Given the description of an element on the screen output the (x, y) to click on. 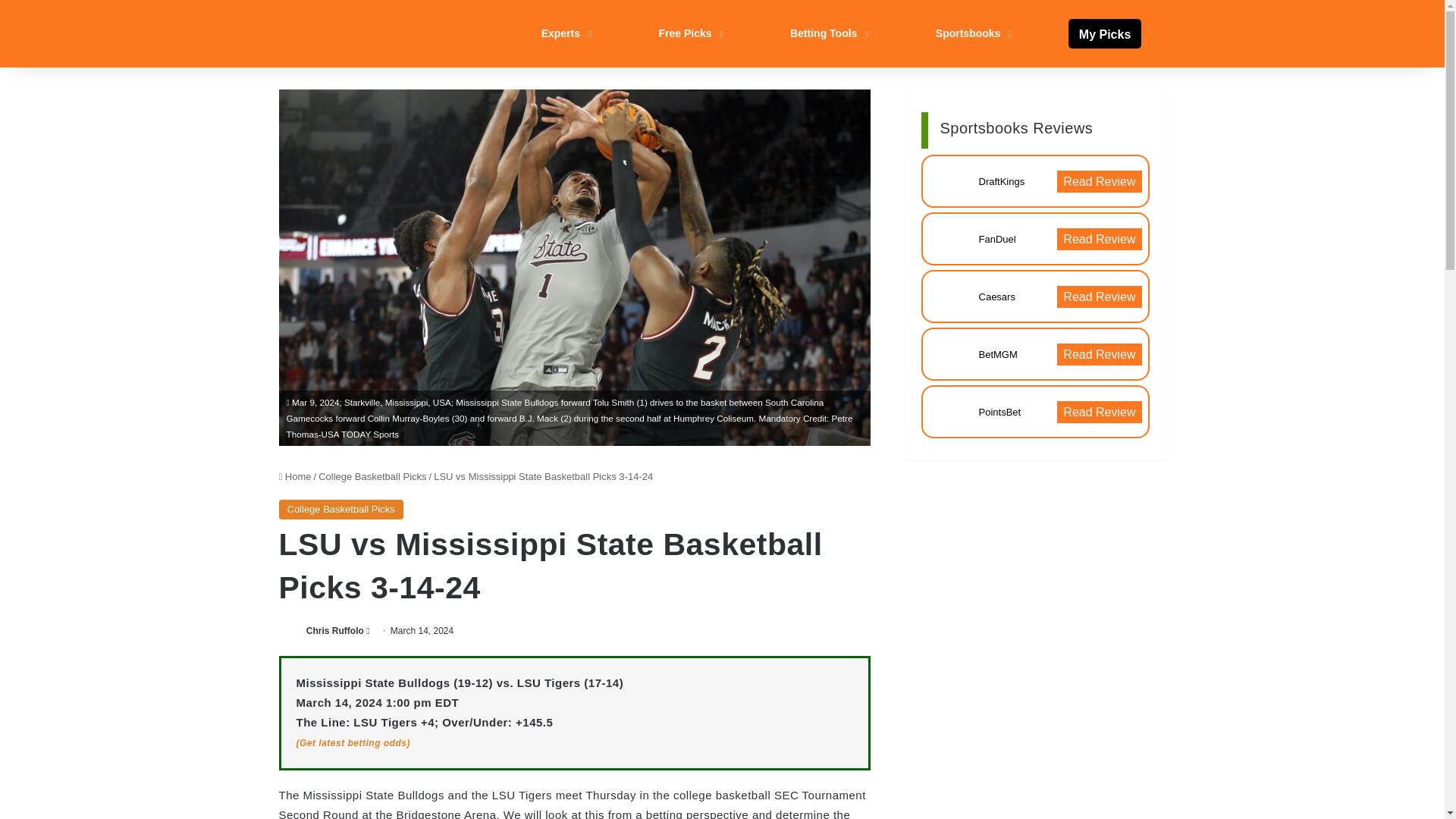
Chris Ruffolo (334, 630)
Free Picks (688, 33)
Experts (564, 33)
Betting Tools (827, 33)
